Given the description of an element on the screen output the (x, y) to click on. 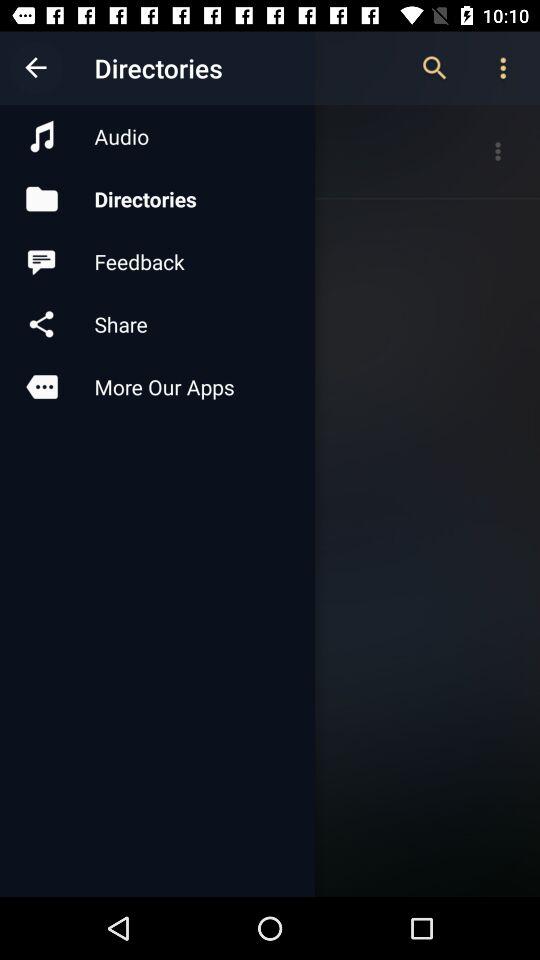
launch the item to the left of the directories item (36, 68)
